Given the description of an element on the screen output the (x, y) to click on. 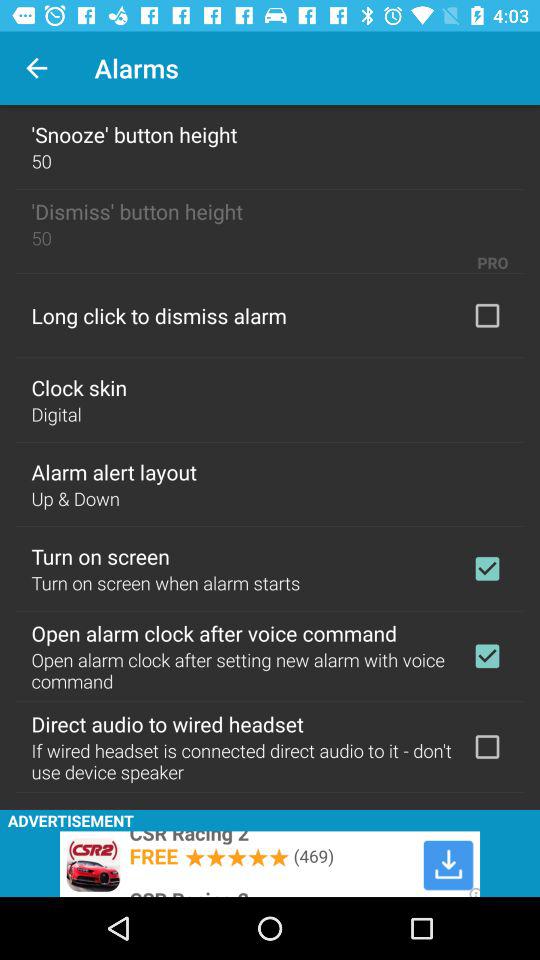
toggle with long click to dismiss alarm options (487, 315)
